Given the description of an element on the screen output the (x, y) to click on. 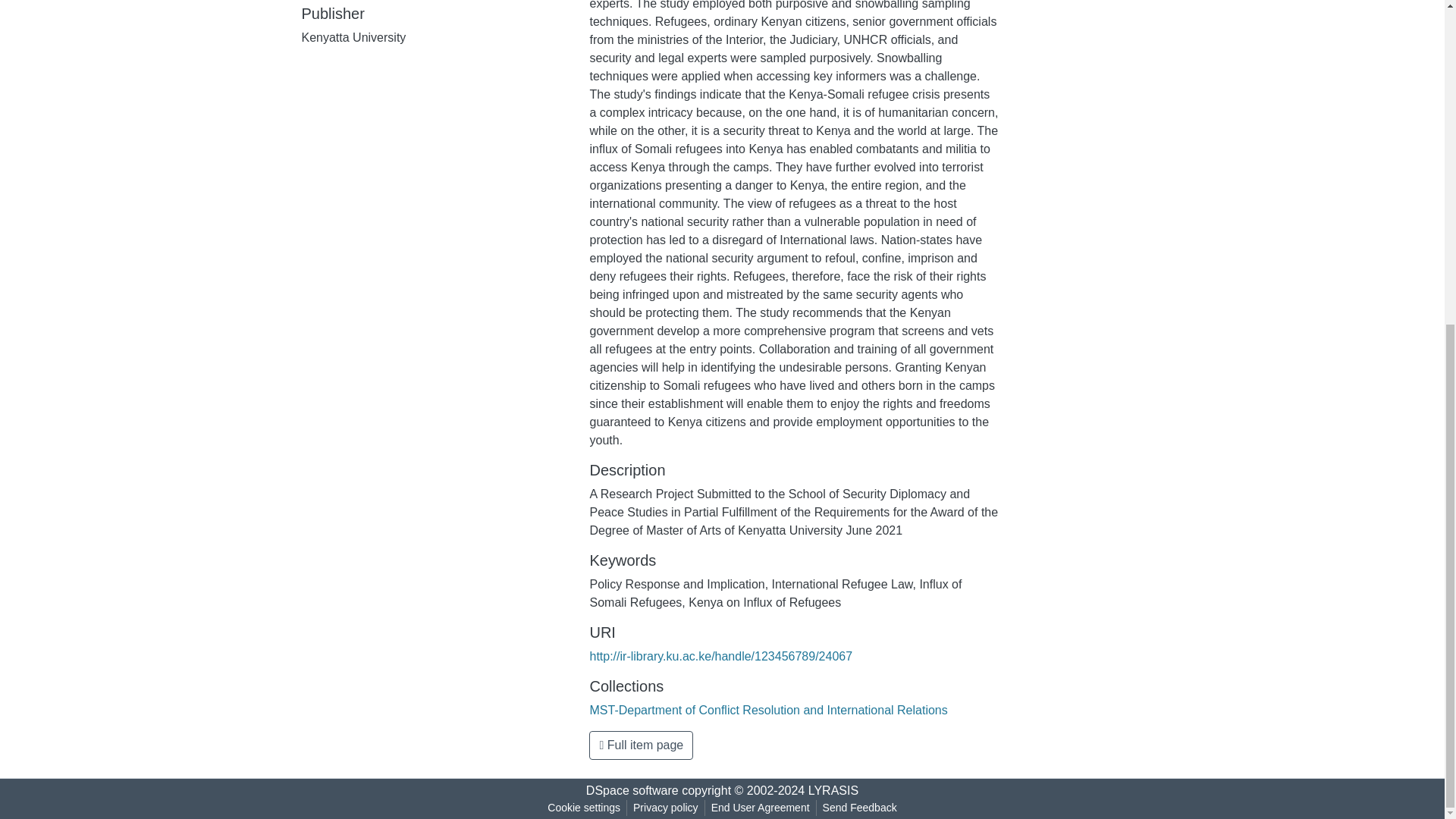
Send Feedback (859, 807)
Cookie settings (583, 807)
Full item page (641, 745)
DSpace software (632, 789)
End User Agreement (759, 807)
LYRASIS (833, 789)
Privacy policy (665, 807)
